Given the description of an element on the screen output the (x, y) to click on. 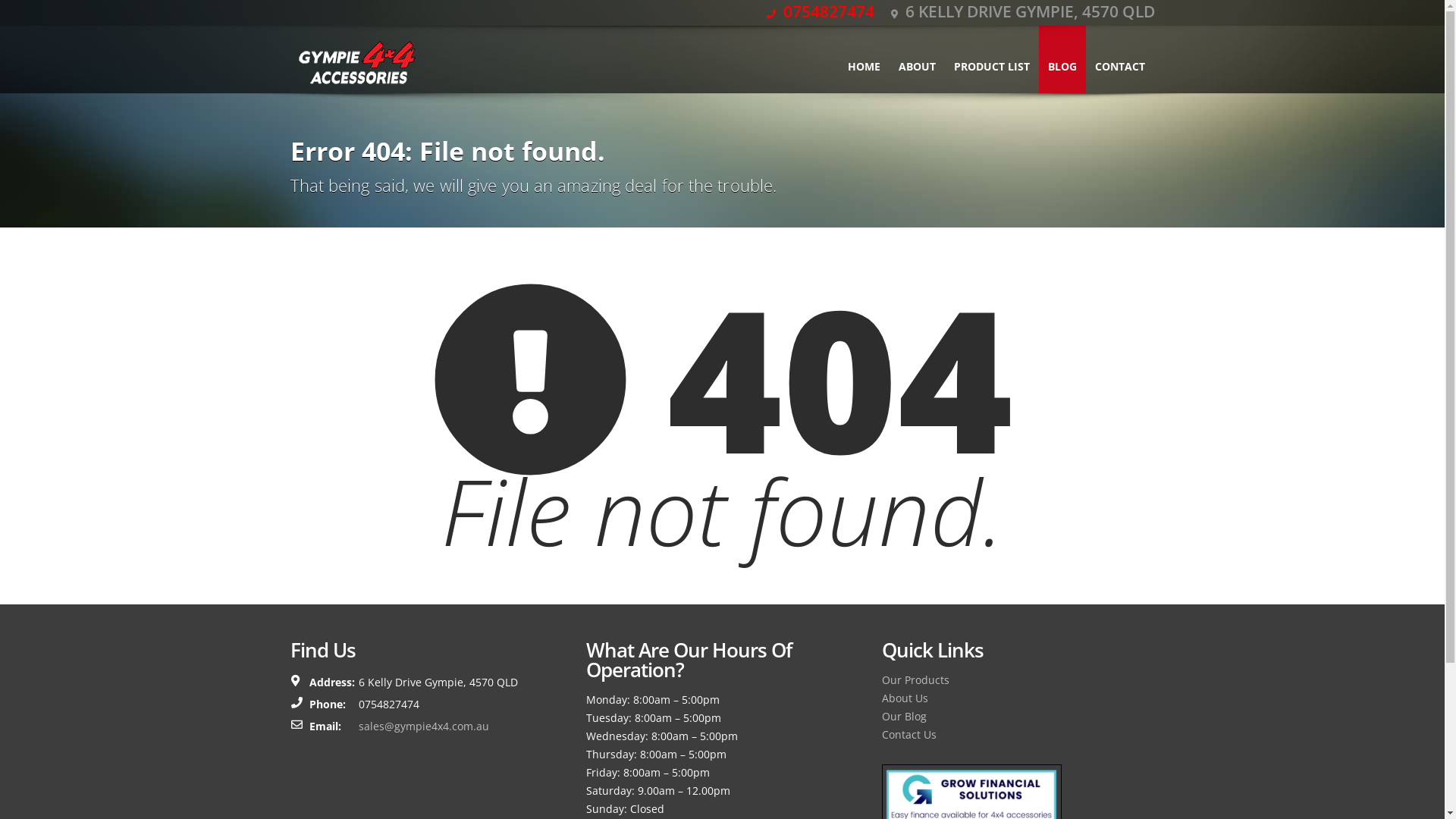
HOME Element type: text (863, 59)
About Us Element type: text (904, 697)
PRODUCT LIST Element type: text (991, 59)
BLOG Element type: text (1061, 59)
Our Products Element type: text (914, 679)
CONTACT Element type: text (1119, 59)
Contact Us Element type: text (908, 734)
sales@gympie4x4.com.au Element type: text (422, 725)
6 KELLY DRIVE GYMPIE, 4570 QLD Element type: text (1022, 10)
Our Blog Element type: text (903, 716)
0754827474 Element type: text (819, 10)
ABOUT Element type: text (916, 59)
